Given the description of an element on the screen output the (x, y) to click on. 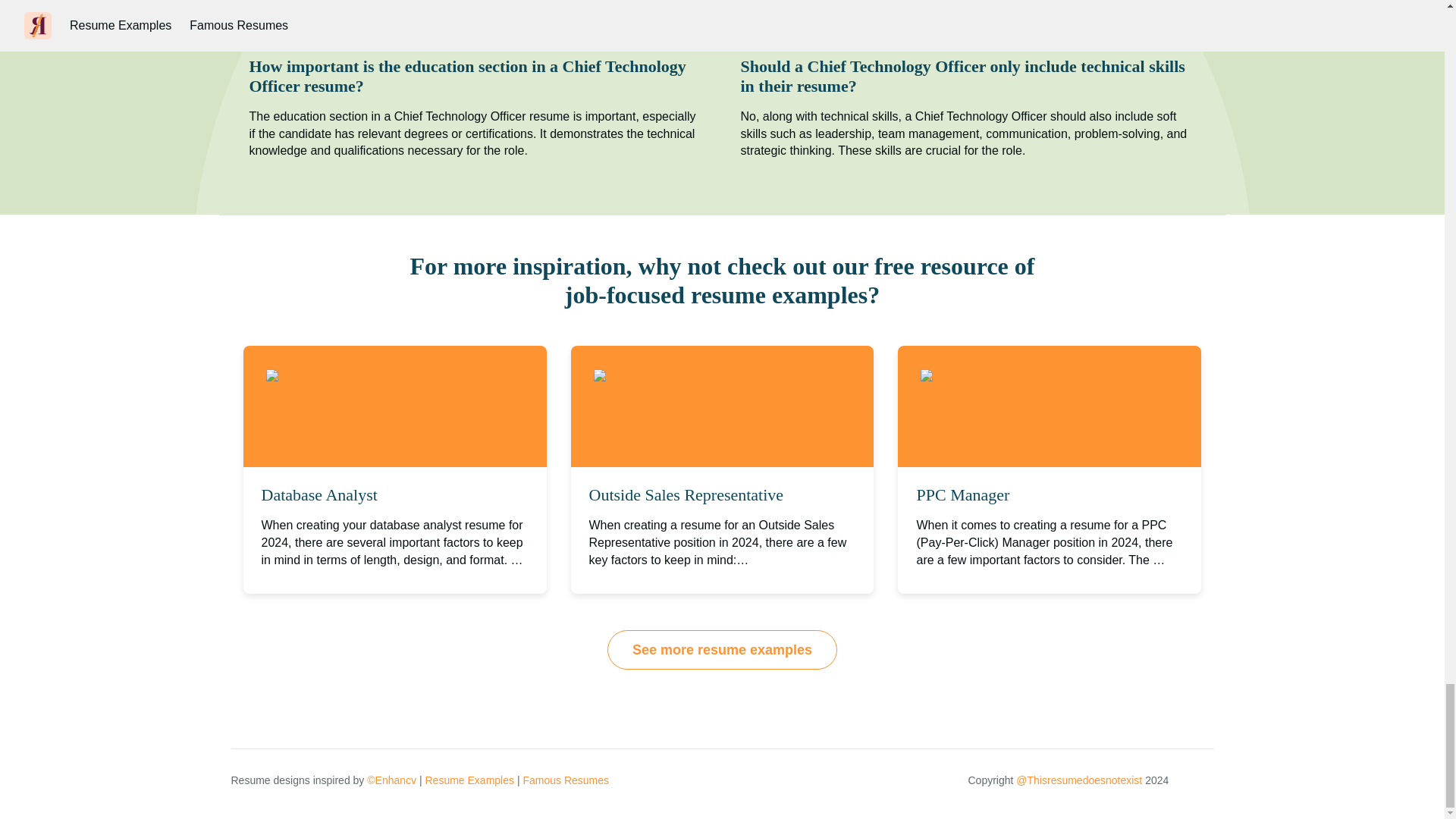
Database Analyst's resume (354, 376)
Resume Examples (469, 779)
PPC Manager's resume (1000, 376)
See more resume examples (722, 649)
Famous Resumes (565, 779)
Outside Sales Representative's resume (709, 376)
